Given the description of an element on the screen output the (x, y) to click on. 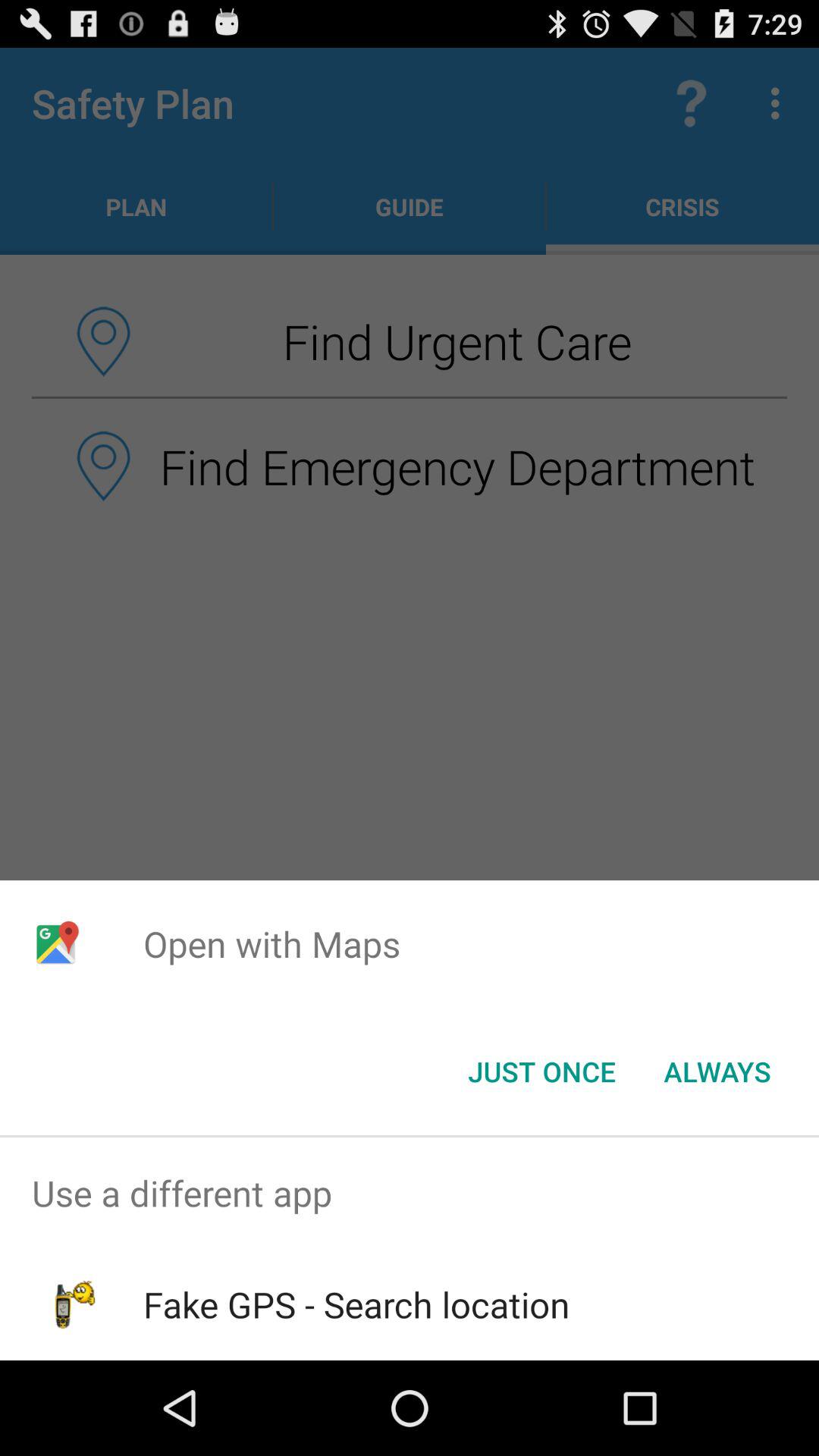
press the icon to the left of the always icon (541, 1071)
